Given the description of an element on the screen output the (x, y) to click on. 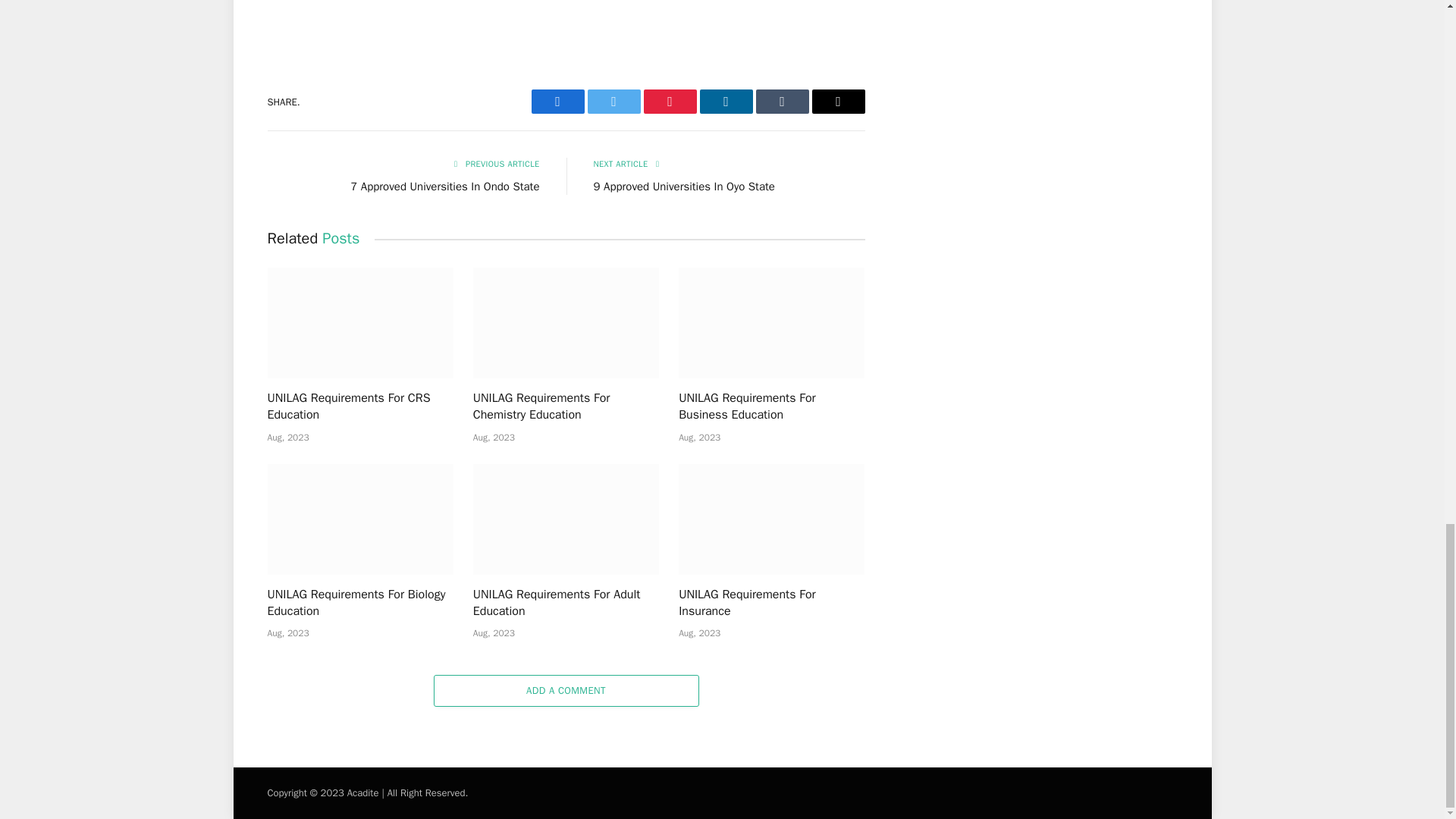
Share on Facebook (557, 101)
Email (837, 101)
LinkedIn (725, 101)
Twitter (613, 101)
Facebook (557, 101)
Tumblr (781, 101)
Share on Tumblr (781, 101)
Share on LinkedIn (725, 101)
Pinterest (669, 101)
Share on Pinterest (669, 101)
Share via Email (837, 101)
9 Approved Universities In Oyo State (683, 186)
7 Approved Universities In Ondo State (444, 186)
